Given the description of an element on the screen output the (x, y) to click on. 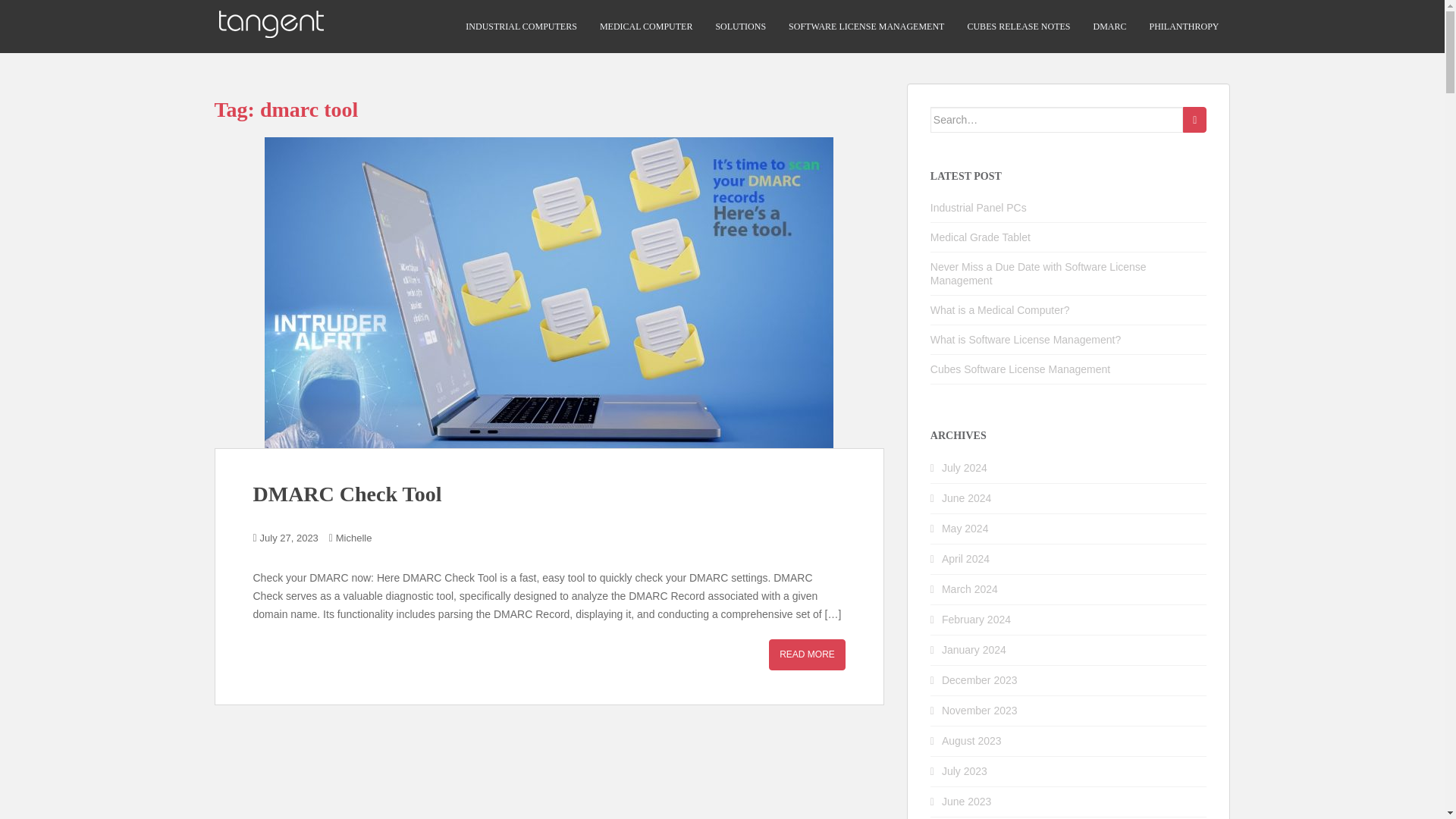
CUBES RELEASE NOTES (1018, 26)
November 2023 (979, 710)
DMARC Check Tool (806, 654)
July 2023 (964, 770)
DMARC Check Tool (347, 494)
Medical Grade Tablet (980, 236)
July 2024 (964, 467)
June 2023 (966, 801)
June 2024 (966, 498)
Search (1194, 119)
January 2024 (974, 649)
Never Miss a Due Date with Software License Management (1038, 273)
SOFTWARE LICENSE MANAGEMENT (866, 26)
December 2023 (979, 680)
